Given the description of an element on the screen output the (x, y) to click on. 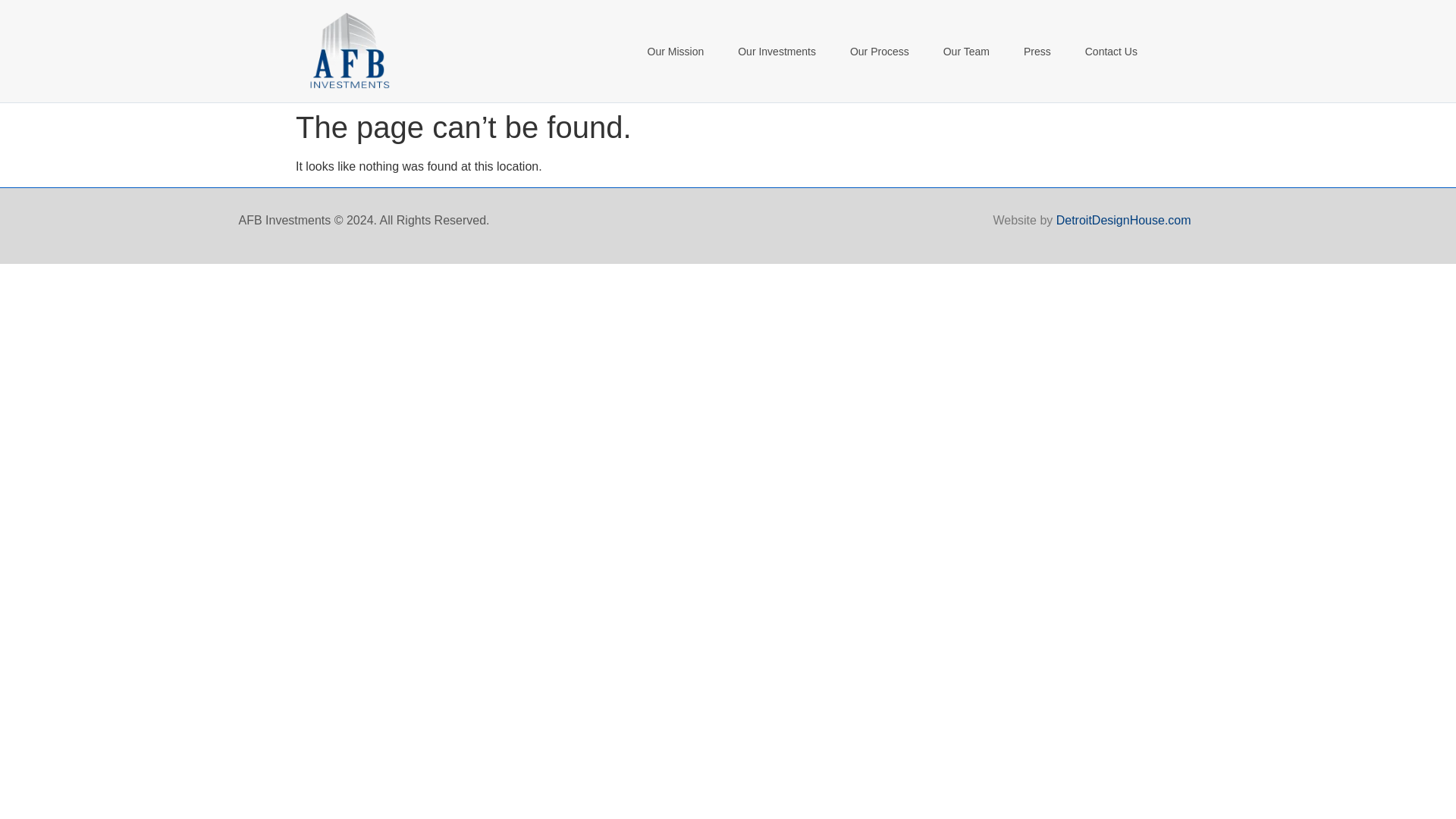
Our Investments (776, 51)
Contact Us (1111, 51)
Our Team (966, 51)
Our Process (879, 51)
DetroitDesignHouse.com (1124, 219)
Press (1037, 51)
DetroitDesignHouse.com (1124, 219)
Our Mission (675, 51)
